Given the description of an element on the screen output the (x, y) to click on. 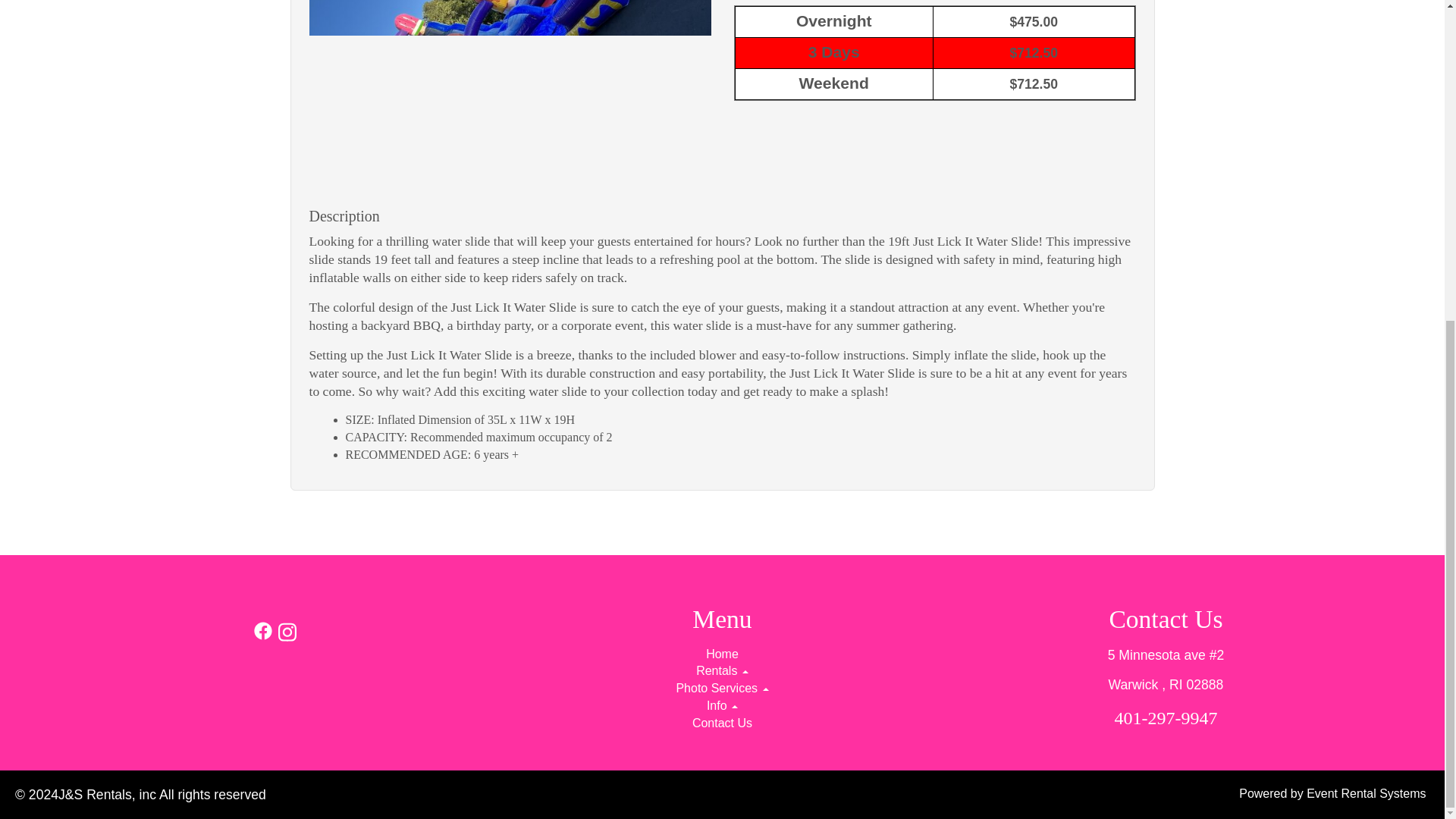
Rentals (721, 670)
Home (722, 653)
19ft Just lick it water slide (509, 88)
